Given the description of an element on the screen output the (x, y) to click on. 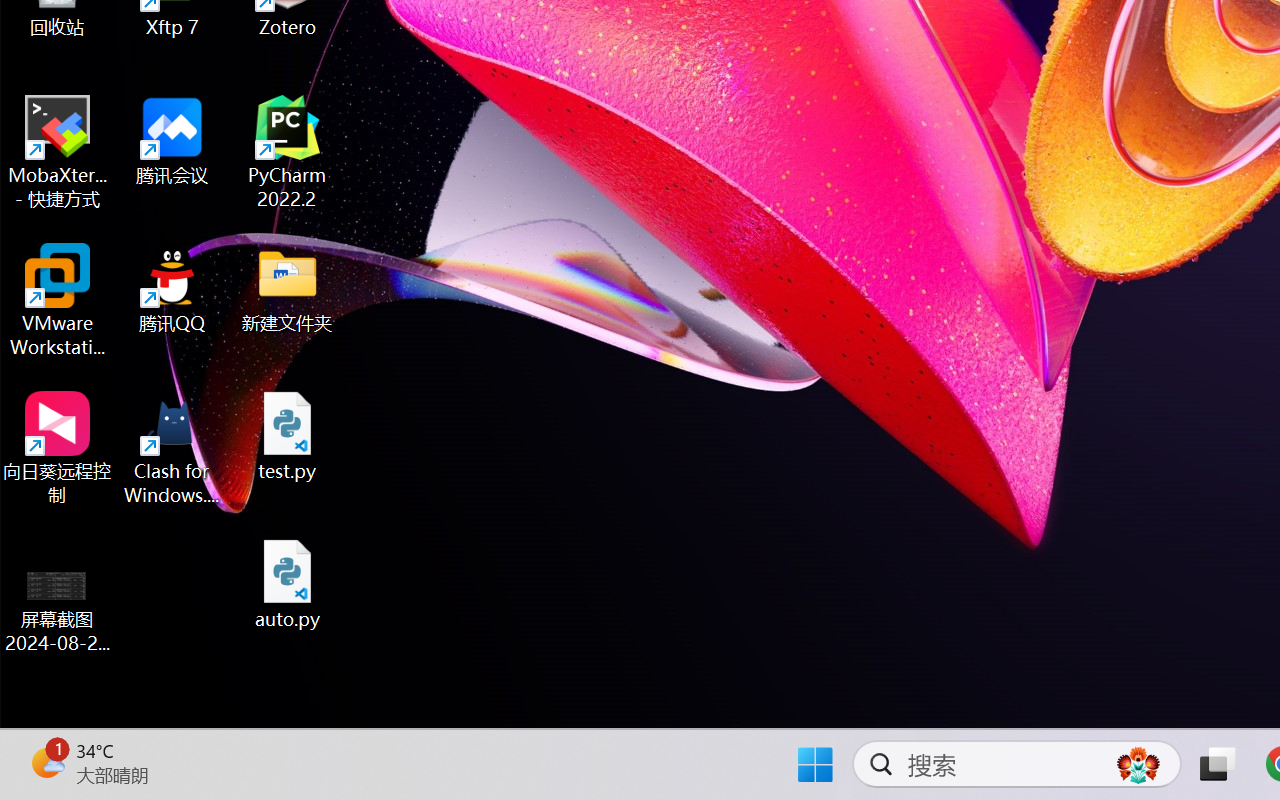
auto.py (287, 584)
